Given the description of an element on the screen output the (x, y) to click on. 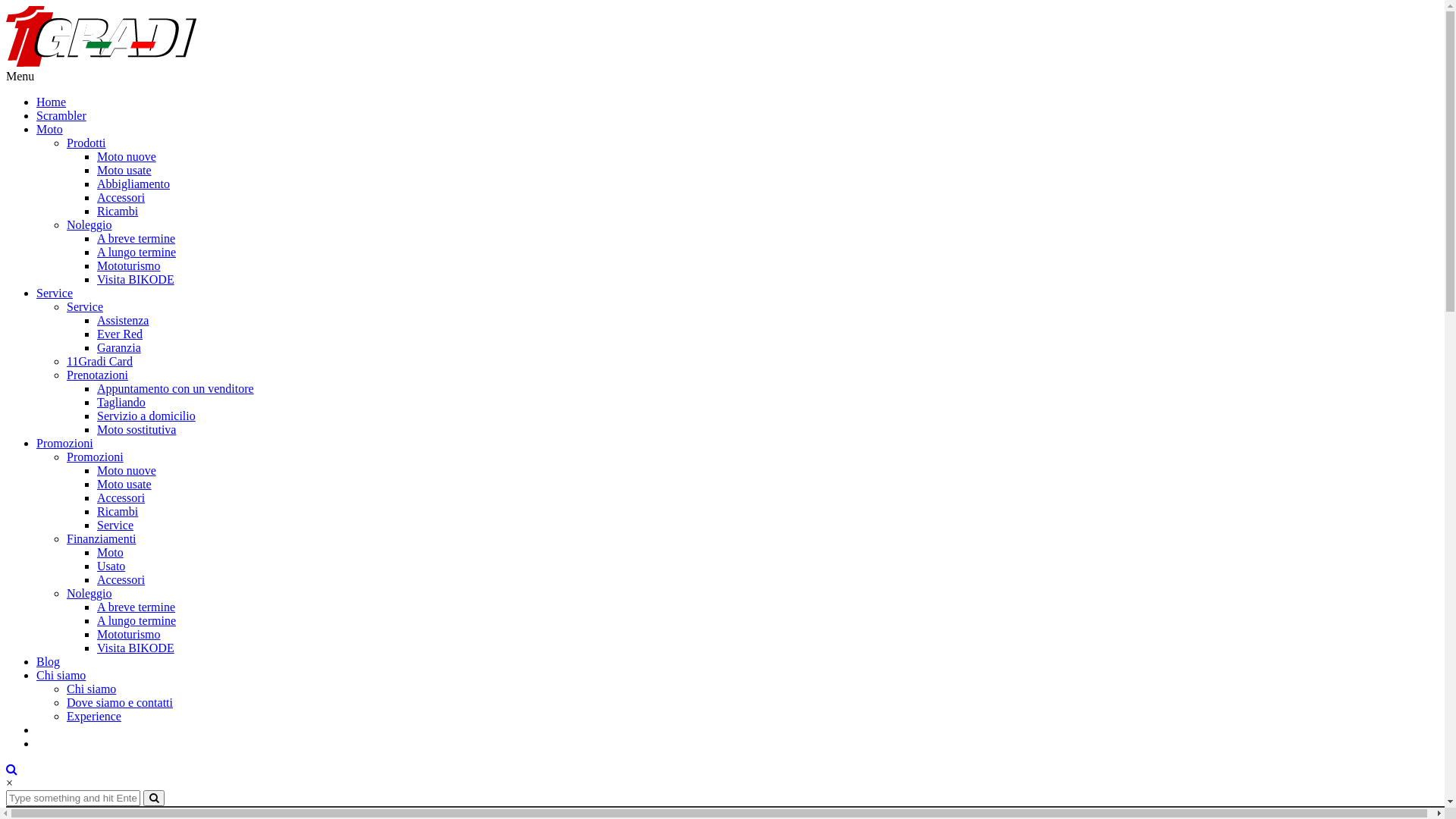
Moto Element type: text (110, 552)
Moto usate Element type: text (124, 483)
Servizio a domicilio Element type: text (146, 415)
A lungo termine Element type: text (136, 620)
Moto sostitutiva Element type: text (136, 429)
Blog Element type: text (47, 661)
Ricambi Element type: text (117, 511)
Finanziamenti Element type: text (101, 538)
11Gradi Card Element type: text (99, 360)
Ever Red Element type: text (119, 333)
Service Element type: text (84, 306)
Visita BIKODE Element type: text (135, 647)
Menu Element type: text (20, 75)
A breve termine Element type: text (136, 238)
Chi siamo Element type: text (60, 674)
Usato Element type: text (111, 565)
Tagliando Element type: text (121, 401)
Accessori Element type: text (120, 497)
Moto nuove Element type: text (126, 470)
Service Element type: text (115, 524)
Abbigliamento Element type: text (133, 183)
Moto Element type: text (49, 128)
Noleggio Element type: text (89, 592)
Accessori Element type: text (120, 579)
Home Element type: text (50, 101)
Scrambler Element type: text (61, 115)
Promozioni Element type: text (64, 442)
Noleggio Element type: text (89, 224)
Visita BIKODE Element type: text (135, 279)
Dove siamo e contatti Element type: text (119, 702)
Garanzia Element type: text (119, 347)
Assistenza Element type: text (122, 319)
Moto usate Element type: text (124, 169)
Ricambi Element type: text (117, 210)
Experience Element type: text (93, 715)
Promozioni Element type: text (94, 456)
A lungo termine Element type: text (136, 251)
Moto nuove Element type: text (126, 156)
Mototurismo Element type: text (128, 633)
Prodotti Element type: text (86, 142)
Mototurismo Element type: text (128, 265)
Accessori Element type: text (120, 197)
Chi siamo Element type: text (91, 688)
Appuntamento con un venditore Element type: text (175, 388)
Prenotazioni Element type: text (97, 374)
A breve termine Element type: text (136, 606)
Service Element type: text (54, 292)
